Given the description of an element on the screen output the (x, y) to click on. 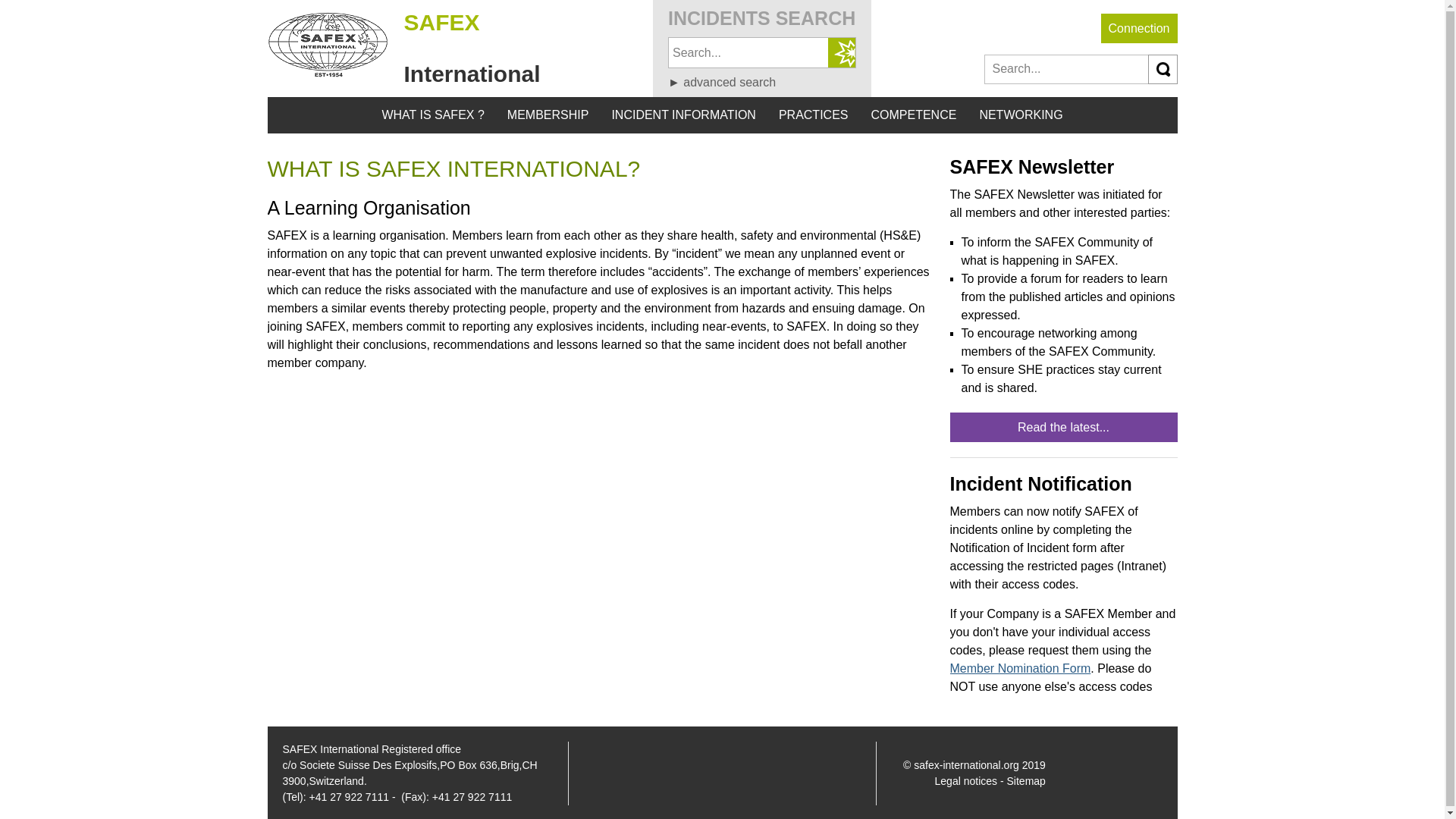
MEMBERSHIP (547, 115)
advanced search (722, 82)
Connection (1138, 28)
Read the latest... (1062, 427)
COMPETENCE (913, 115)
WHAT IS SAFEX ? (432, 115)
Legal notices (965, 780)
PRACTICES (813, 115)
Search... (842, 52)
Sitemap (1026, 780)
